Given the description of an element on the screen output the (x, y) to click on. 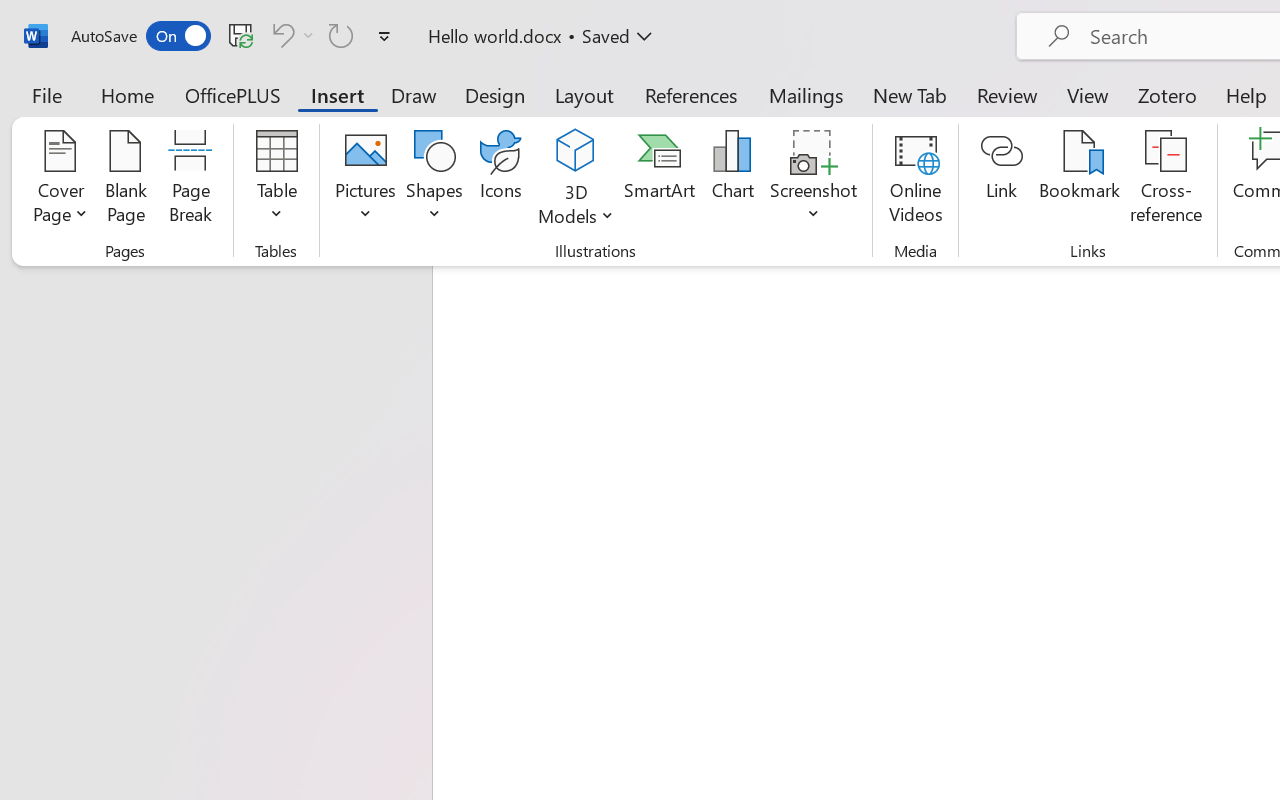
File Tab (46, 94)
Design (495, 94)
Quick Access Toolbar (233, 36)
References (690, 94)
Can't Undo (280, 35)
Review (1007, 94)
Can't Repeat (341, 35)
AutoSave (140, 35)
Can't Undo (290, 35)
Zotero (1166, 94)
Save (241, 35)
Layout (584, 94)
Insert (337, 94)
